Given the description of an element on the screen output the (x, y) to click on. 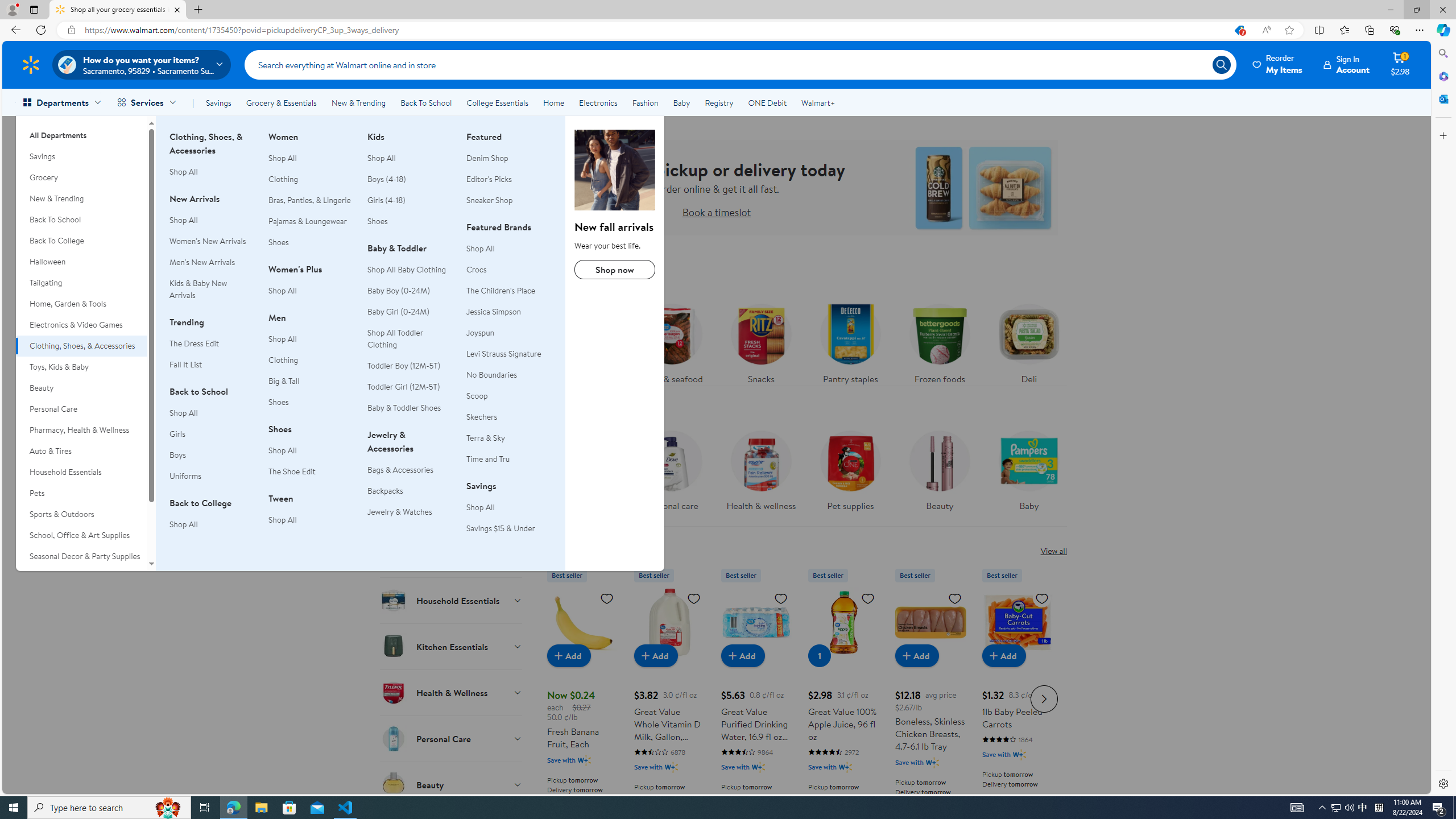
Shoes (376, 220)
Fashion (644, 102)
Backpacks (384, 490)
No Boundaries (508, 374)
MenShop AllClothingBig & TallShoes (310, 365)
College Essentials (496, 102)
Frozen foods (938, 340)
Back To College (81, 240)
